Given the description of an element on the screen output the (x, y) to click on. 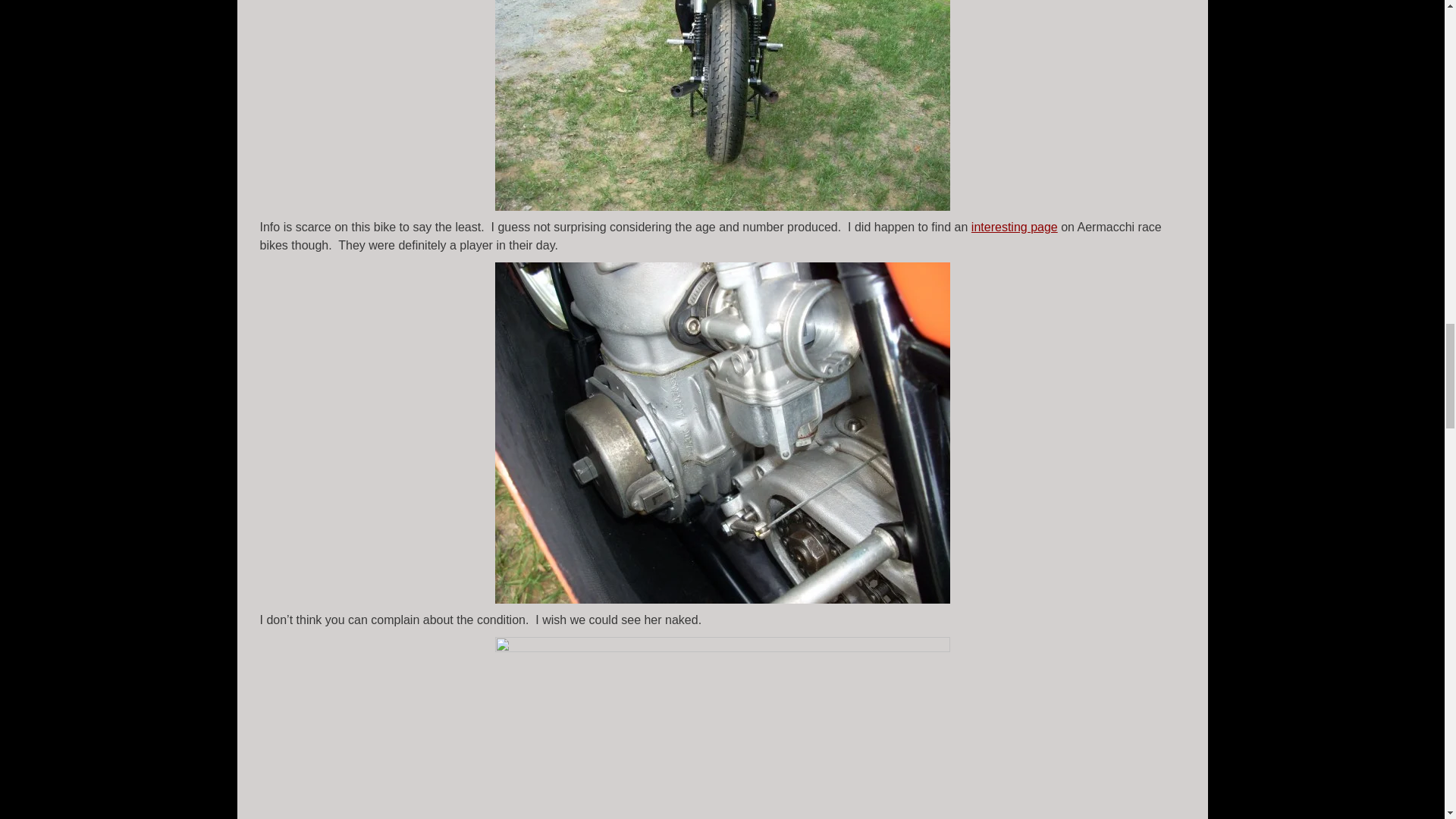
hd rear (722, 105)
hd right rear (722, 728)
